Given the description of an element on the screen output the (x, y) to click on. 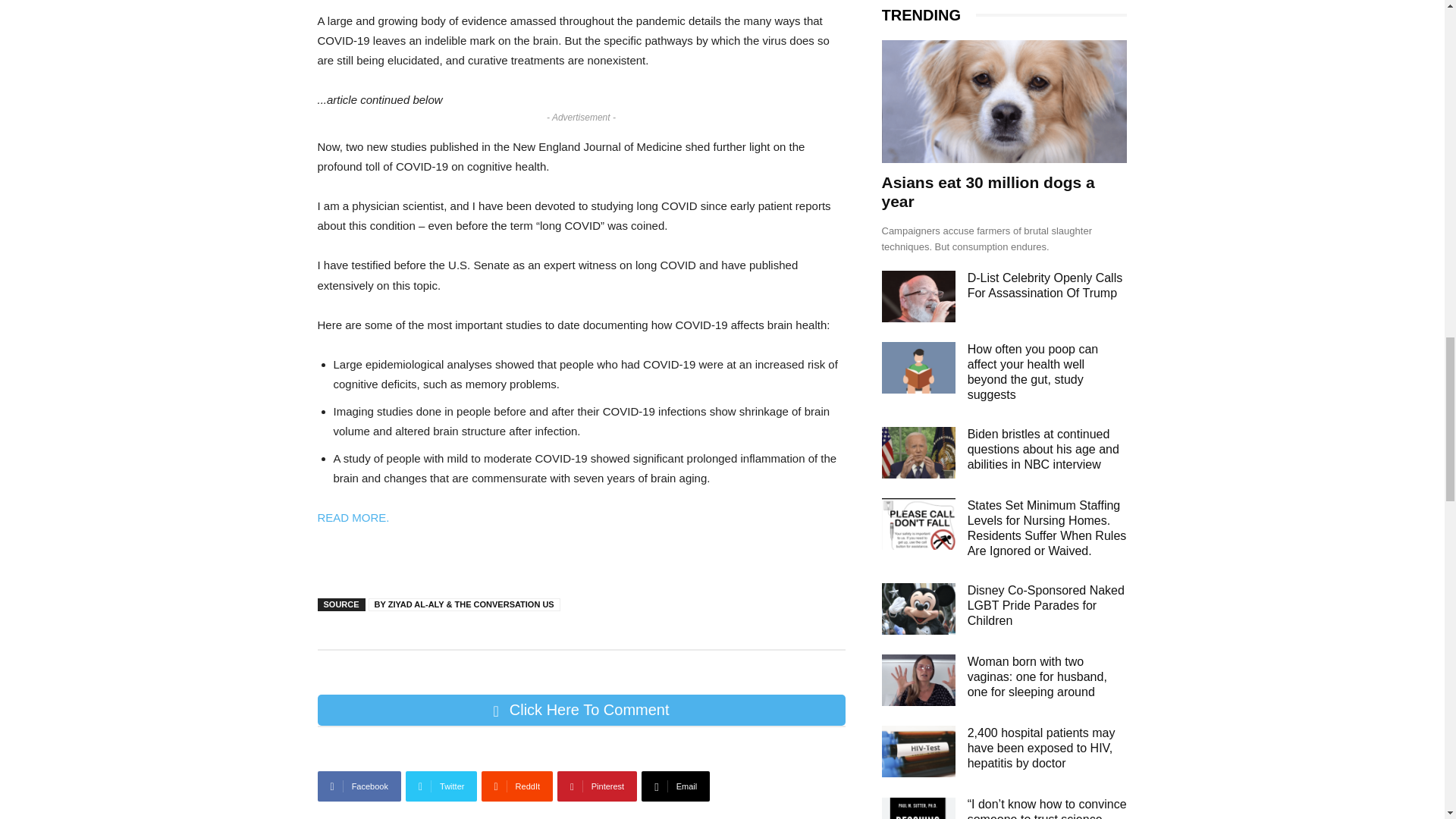
ReddIt (517, 786)
Facebook (358, 786)
Email (676, 786)
Click Here To Comment (580, 709)
Twitter (441, 786)
Asians eat 30 million dogs a year (1003, 101)
Pinterest (597, 786)
